Given the description of an element on the screen output the (x, y) to click on. 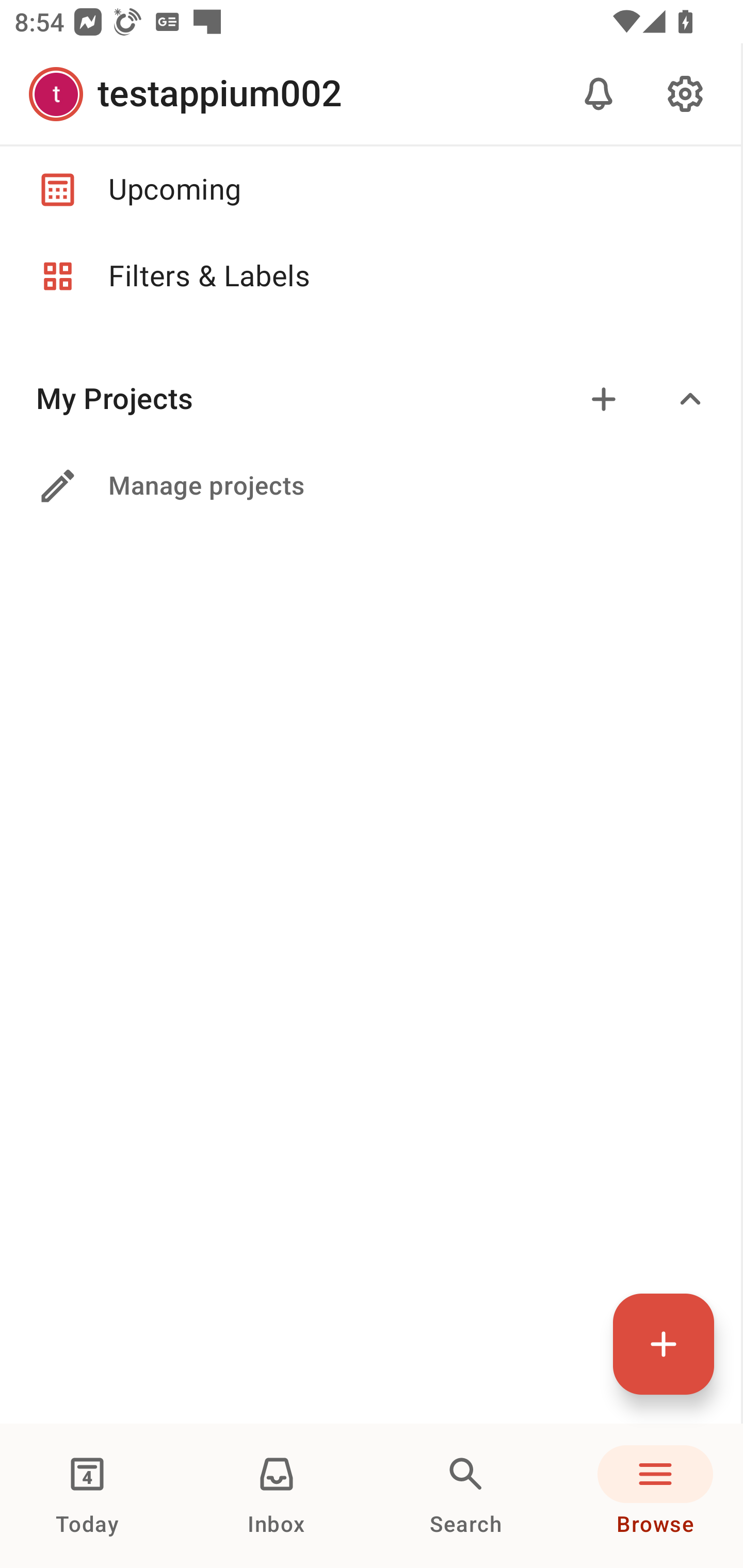
Notifications (598, 93)
Settings (684, 93)
Upcoming (370, 189)
Filters & Labels (370, 276)
My Projects Add Expand/collapse (370, 398)
Add (603, 398)
Expand/collapse (690, 398)
Manage projects (370, 485)
Quick add (663, 1343)
Today (87, 1495)
Inbox (276, 1495)
Search (465, 1495)
